Given the description of an element on the screen output the (x, y) to click on. 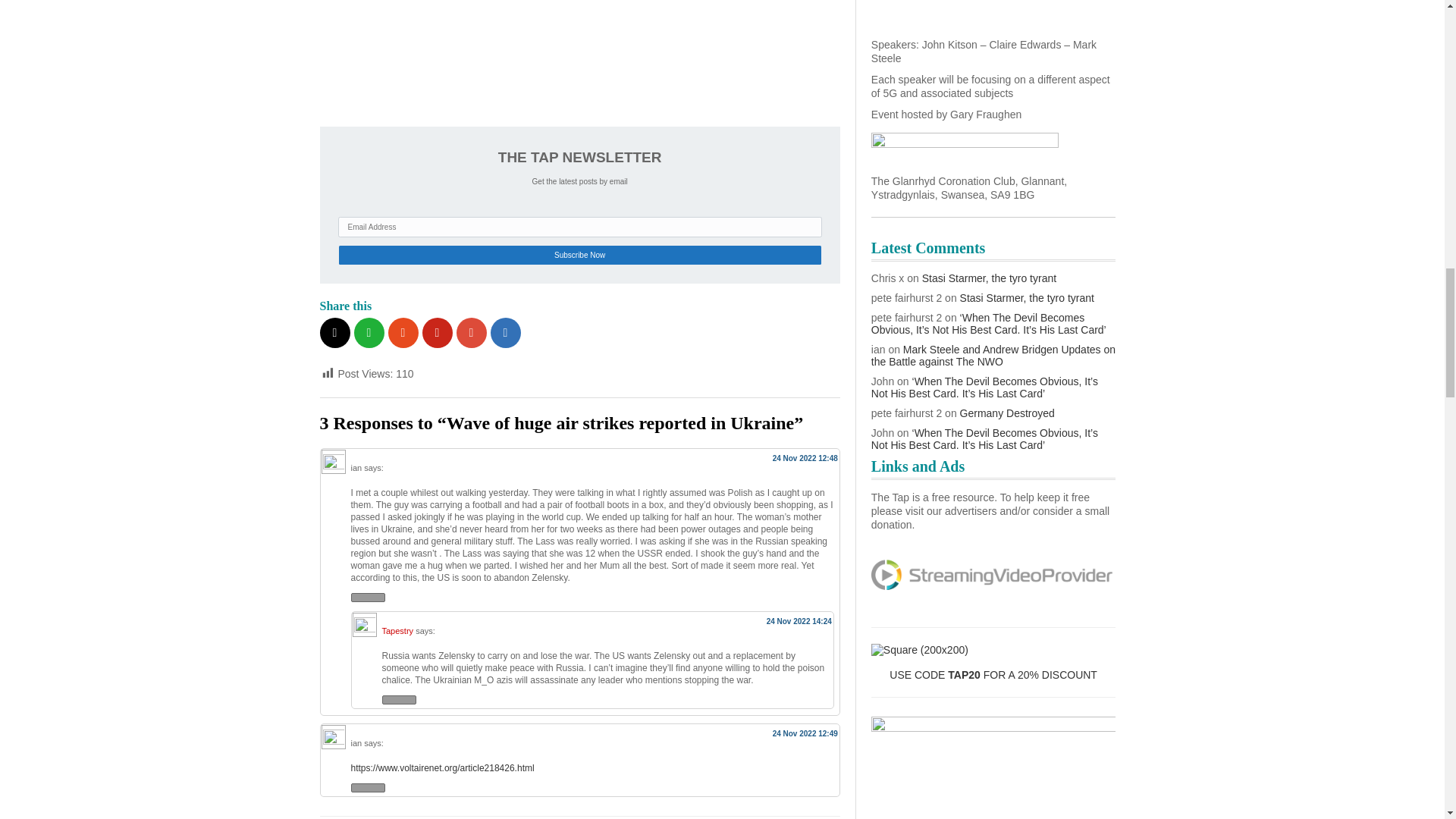
24 Nov 2022 12:48 (805, 458)
Subscribe Now (579, 254)
24 Nov 2022 14:24 (799, 621)
24 Nov 2022 12:49 (805, 733)
Tapestry (397, 630)
Subscribe Now (579, 254)
